Given the description of an element on the screen output the (x, y) to click on. 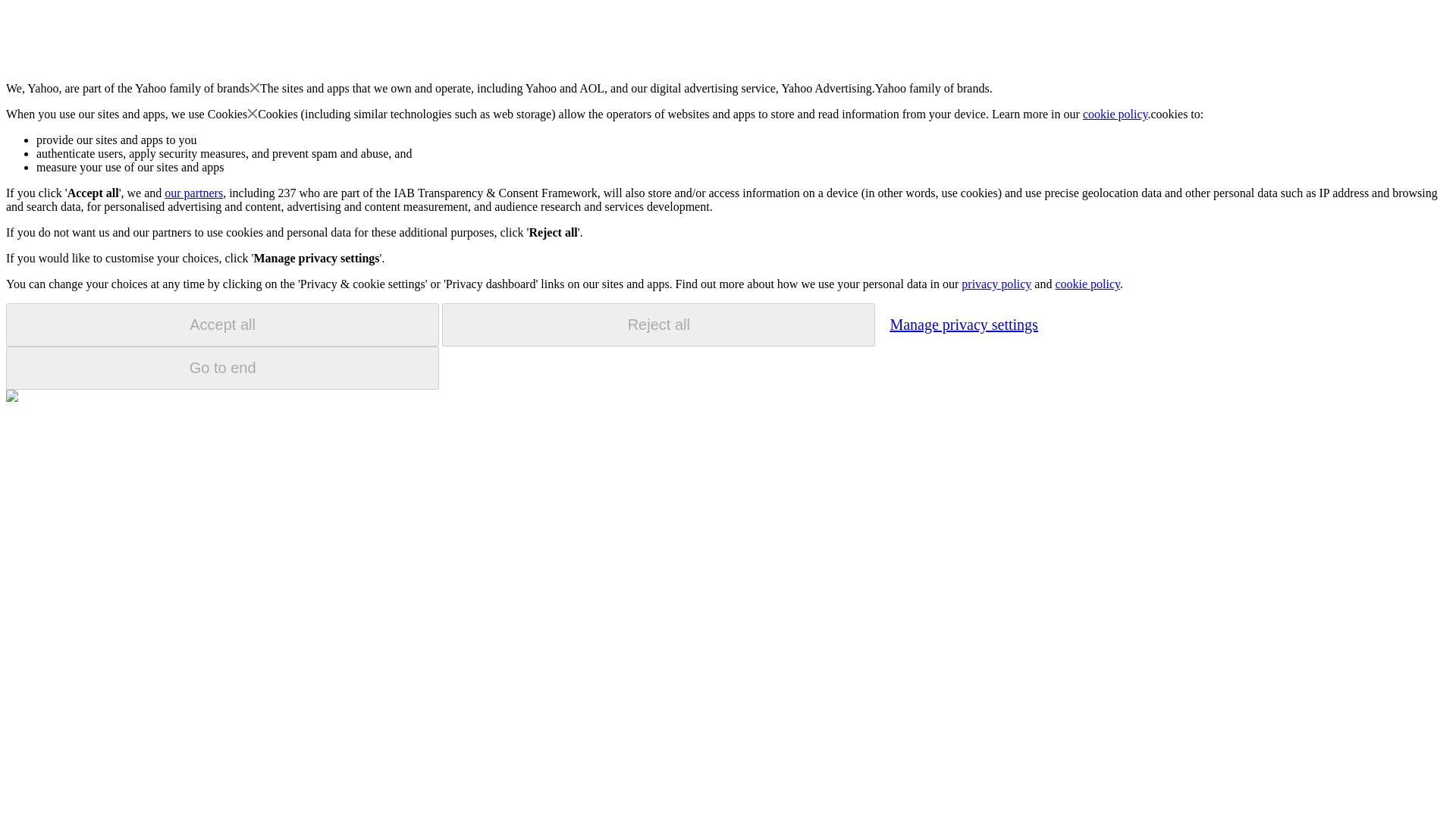
Accept all (222, 324)
privacy policy (995, 283)
cookie policy (1086, 283)
Manage privacy settings (963, 323)
cookie policy (1115, 113)
Go to end (222, 367)
Reject all (658, 324)
our partners (193, 192)
